Given the description of an element on the screen output the (x, y) to click on. 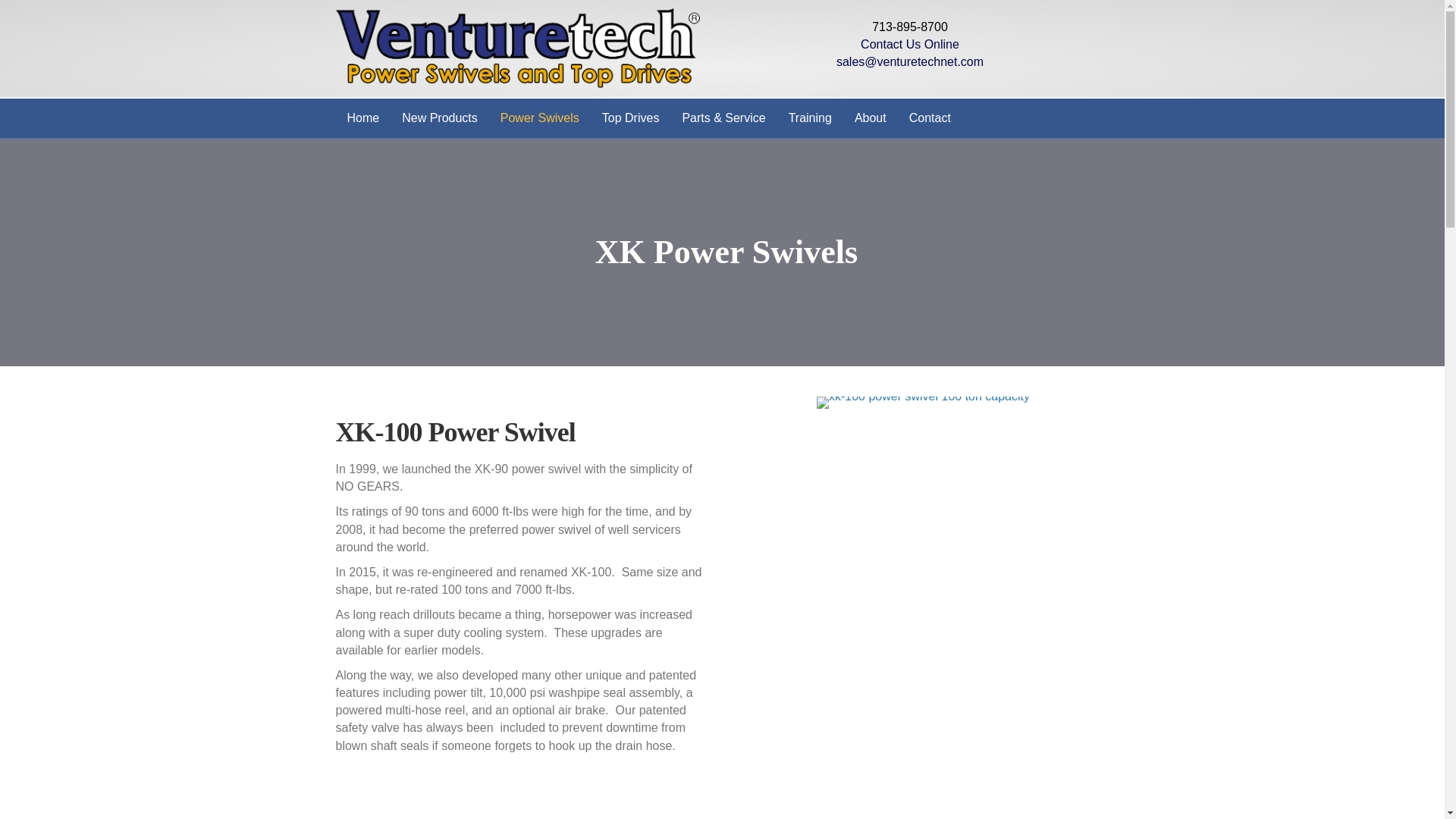
Training (810, 118)
About (870, 118)
XK-100-Power-Swivel-426x1024 (922, 402)
New Products (439, 118)
Contact Us Online (909, 43)
Home (362, 118)
Power Swivels (540, 118)
Top Drives (631, 118)
Contact (930, 118)
